Given the description of an element on the screen output the (x, y) to click on. 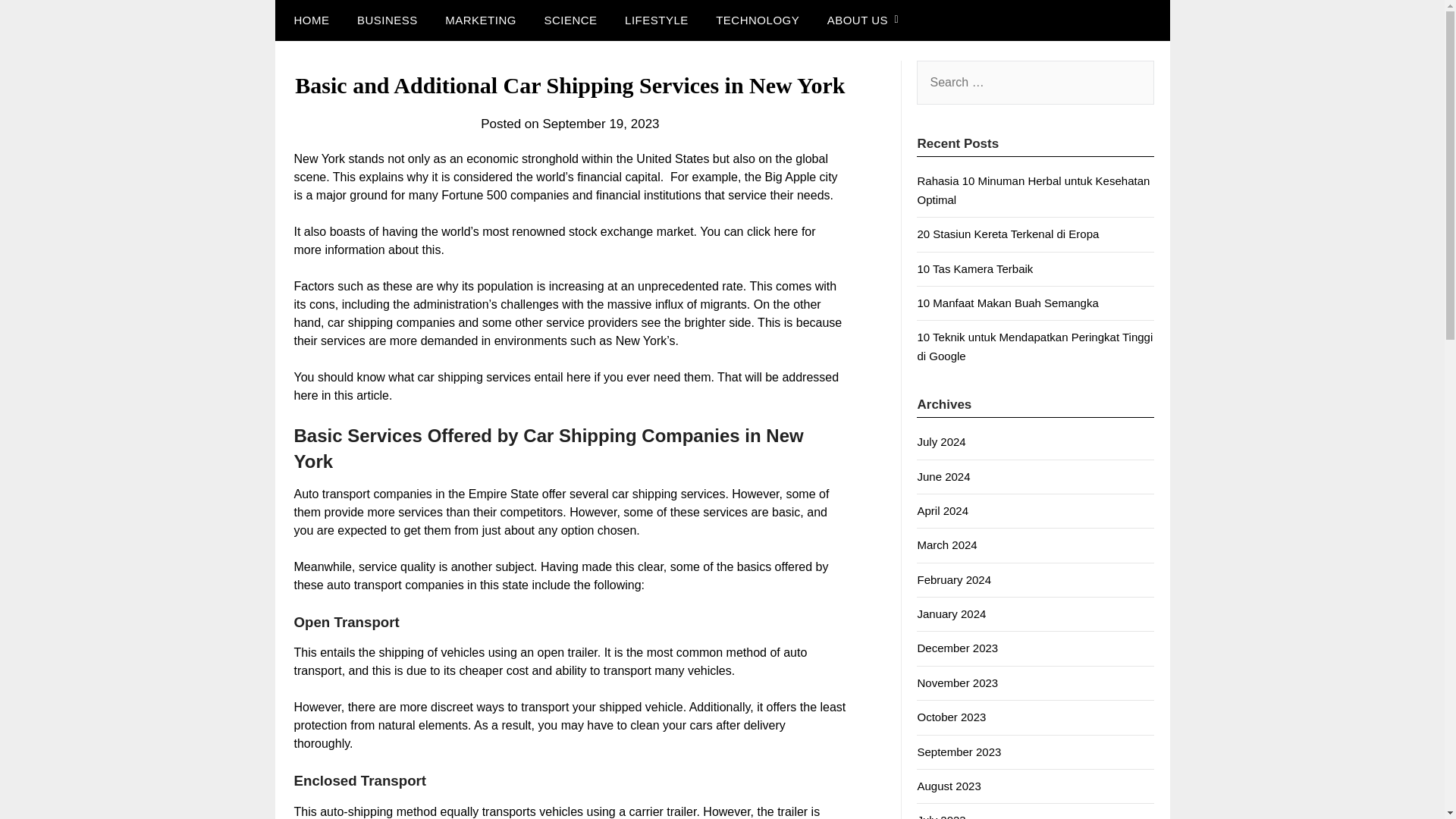
October 2023 (951, 716)
December 2023 (957, 647)
Search (38, 22)
TECHNOLOGY (756, 20)
10 Manfaat Makan Buah Semangka (1007, 302)
November 2023 (957, 682)
June 2024 (943, 476)
HOME (307, 20)
SCIENCE (569, 20)
10 Tas Kamera Terbaik (974, 268)
MARKETING (480, 20)
BUSINESS (387, 20)
August 2023 (948, 785)
10 Teknik untuk Mendapatkan Peringkat Tinggi di Google (1035, 345)
July 2023 (941, 816)
